Given the description of an element on the screen output the (x, y) to click on. 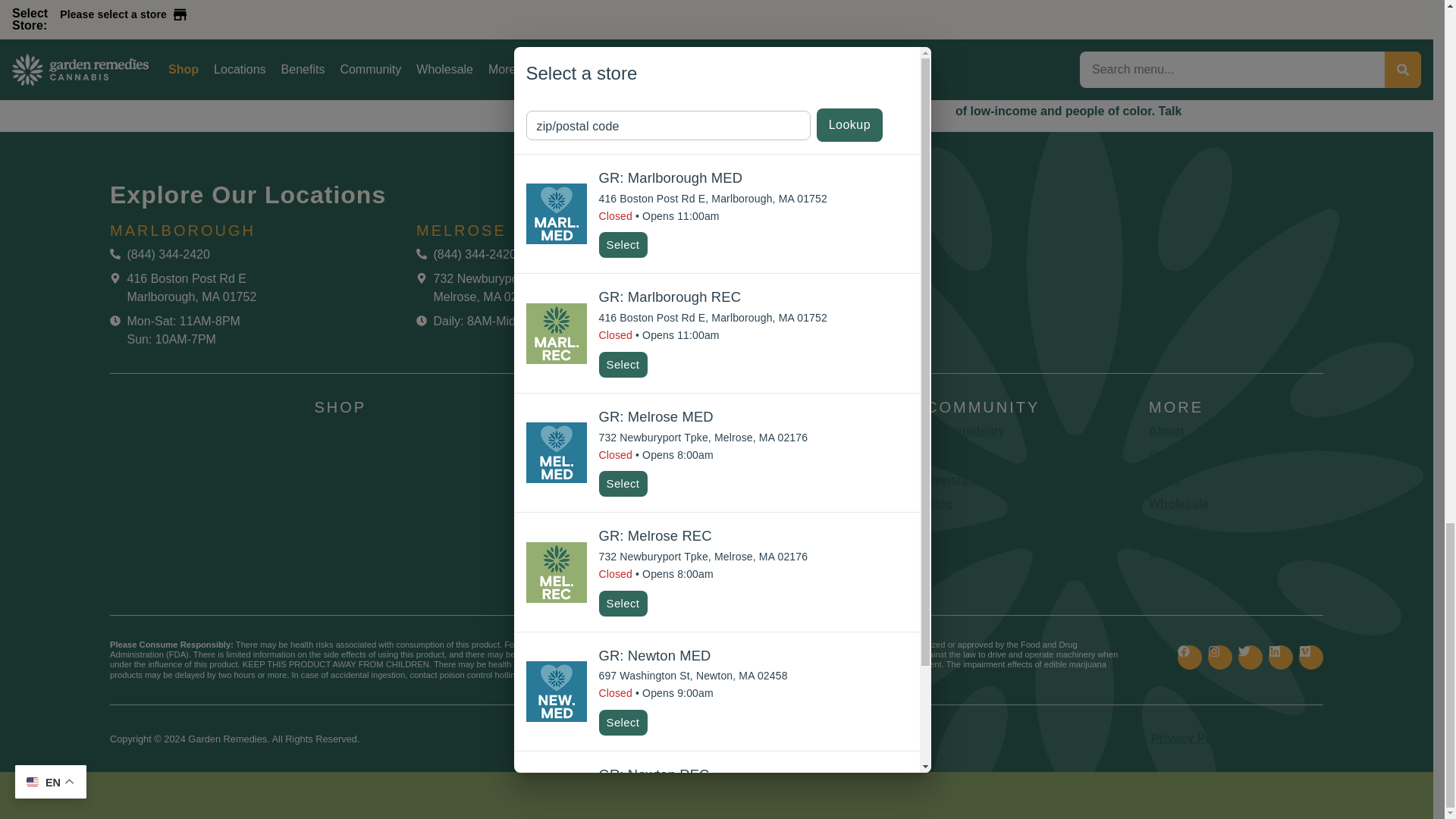
Go to Directions page (495, 288)
Call Garden Remedies (466, 254)
Call Garden Remedies (772, 254)
Go to Directions page (183, 288)
Go to Directions page (782, 288)
Call Garden Remedies (159, 254)
